Given the description of an element on the screen output the (x, y) to click on. 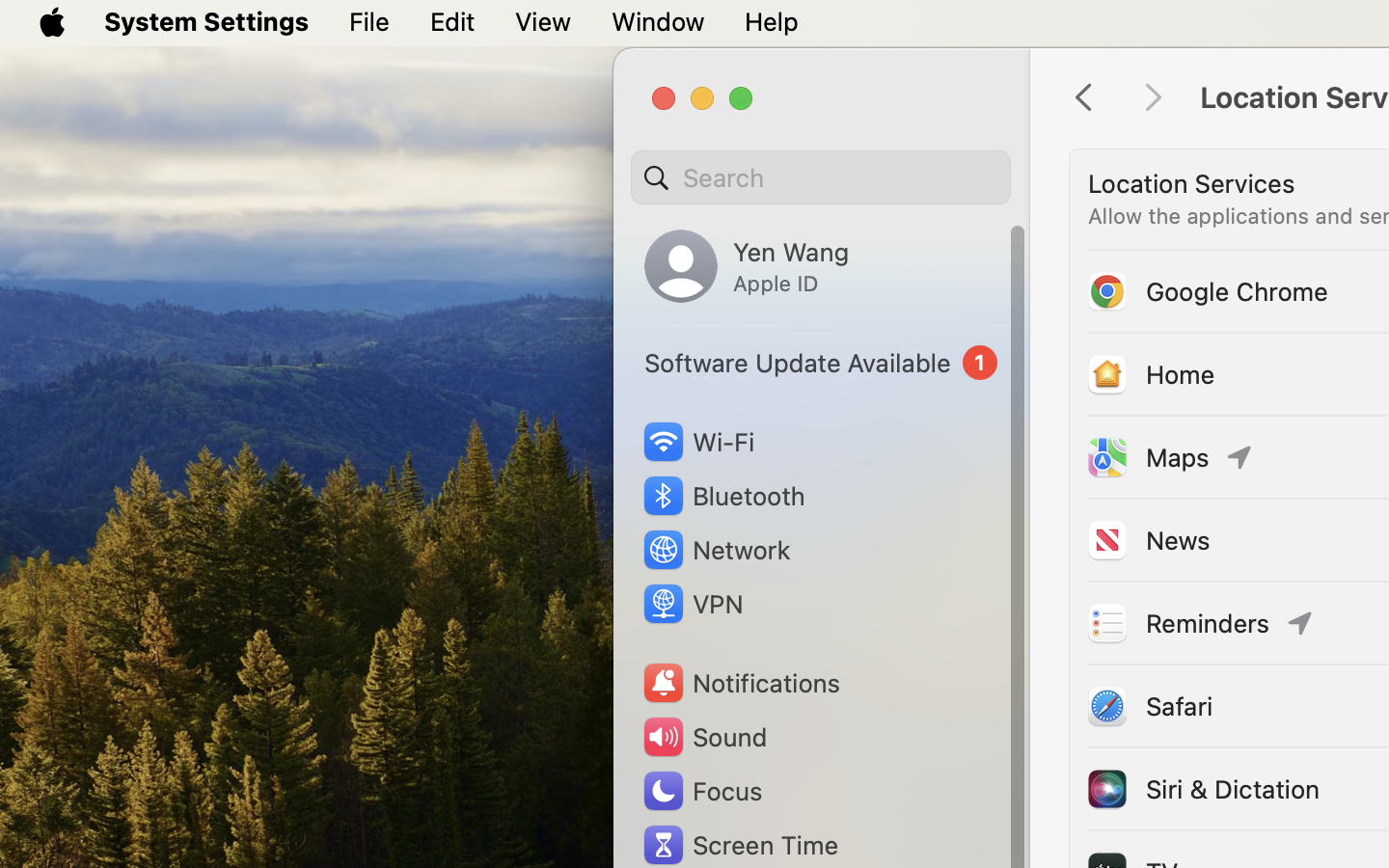
Sound Element type: AXStaticText (703, 736)
Yen Wang, Apple ID Element type: AXStaticText (746, 265)
Location Services Element type: AXStaticText (1191, 182)
Siri & Dictation Element type: AXStaticText (1201, 788)
Wi‑Fi Element type: AXStaticText (697, 441)
